Given the description of an element on the screen output the (x, y) to click on. 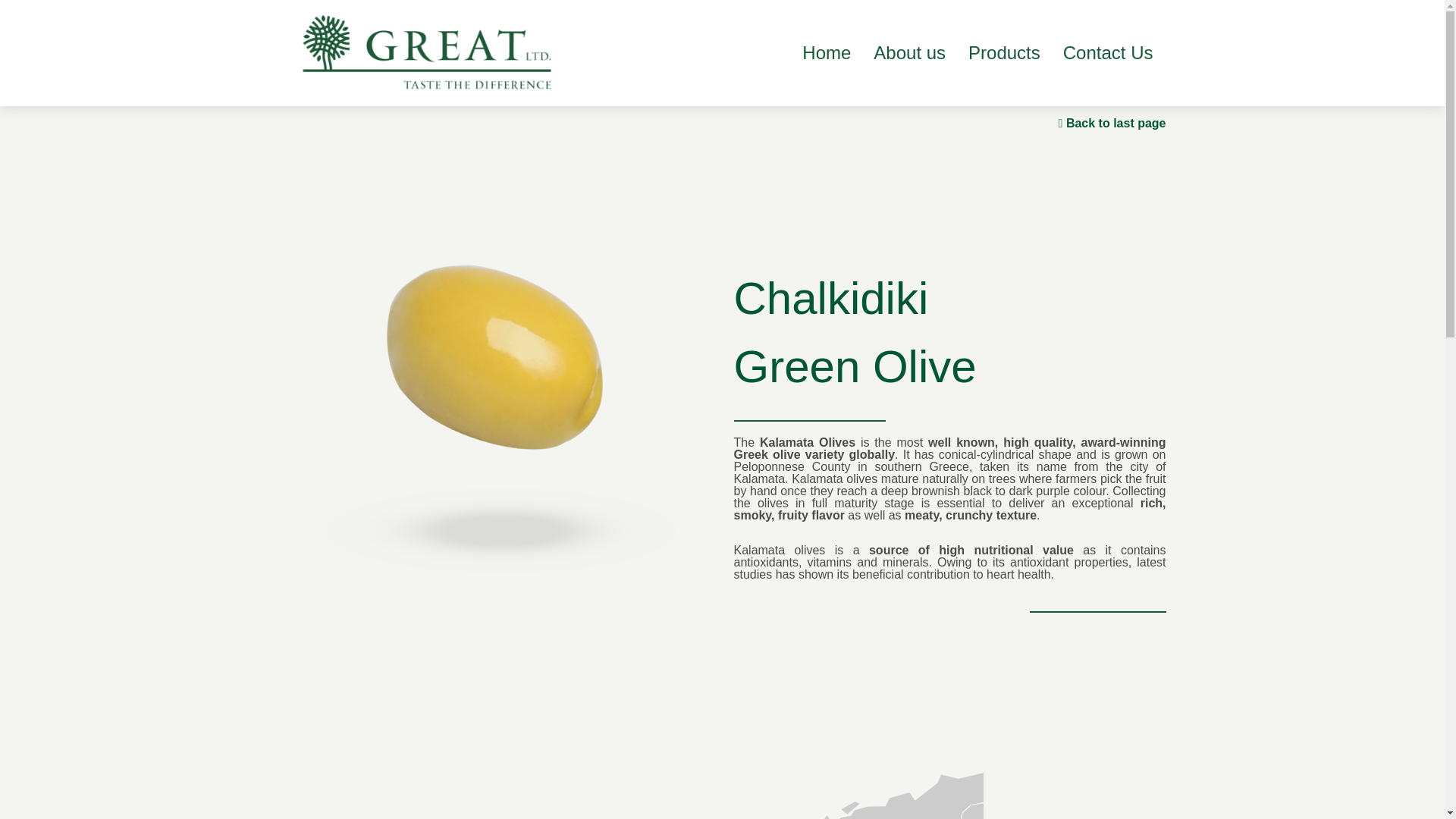
About us (908, 53)
Home (826, 53)
Products (1004, 53)
